Given the description of an element on the screen output the (x, y) to click on. 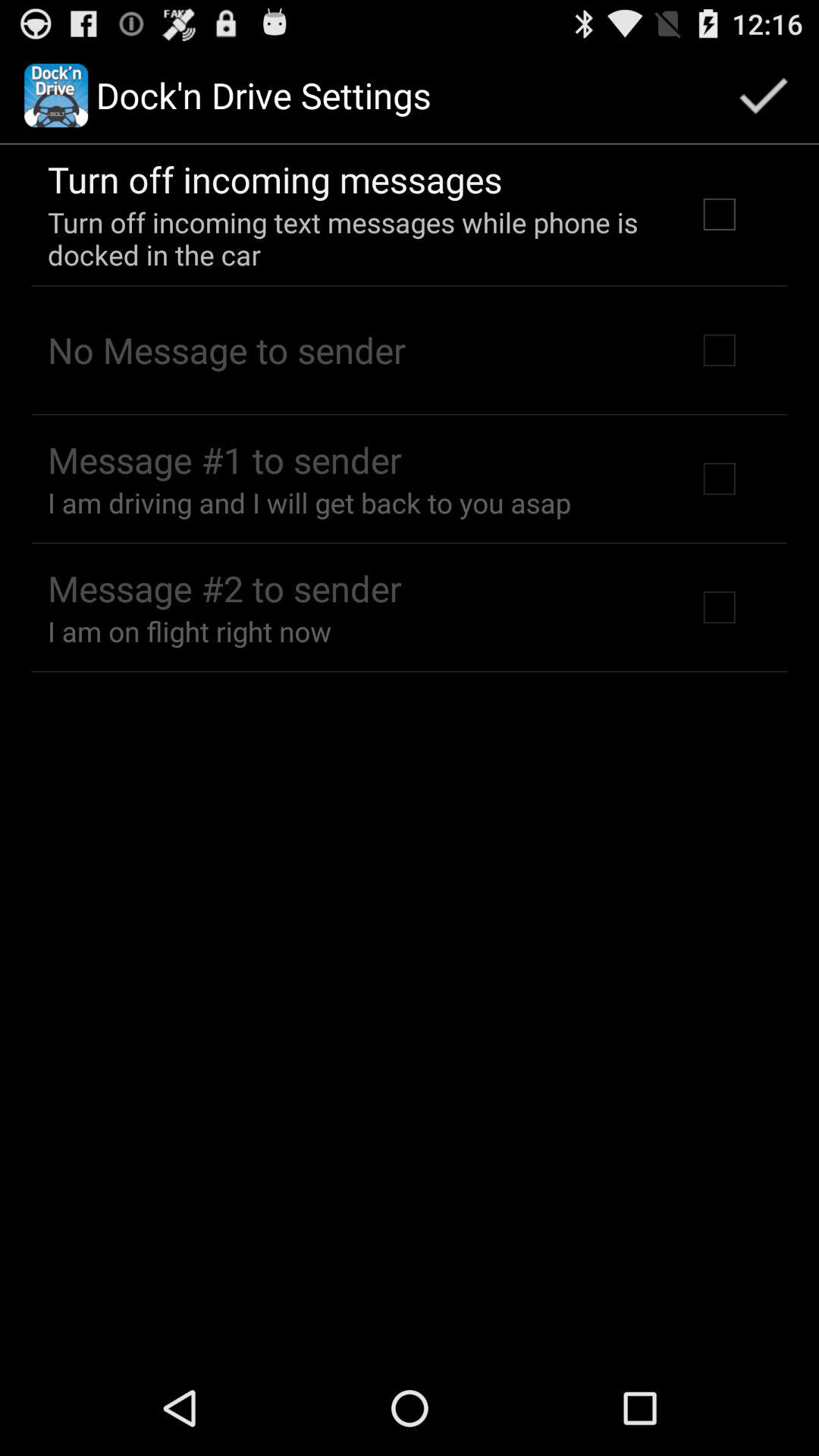
turn on the app to the right of turn off incoming icon (763, 95)
